Given the description of an element on the screen output the (x, y) to click on. 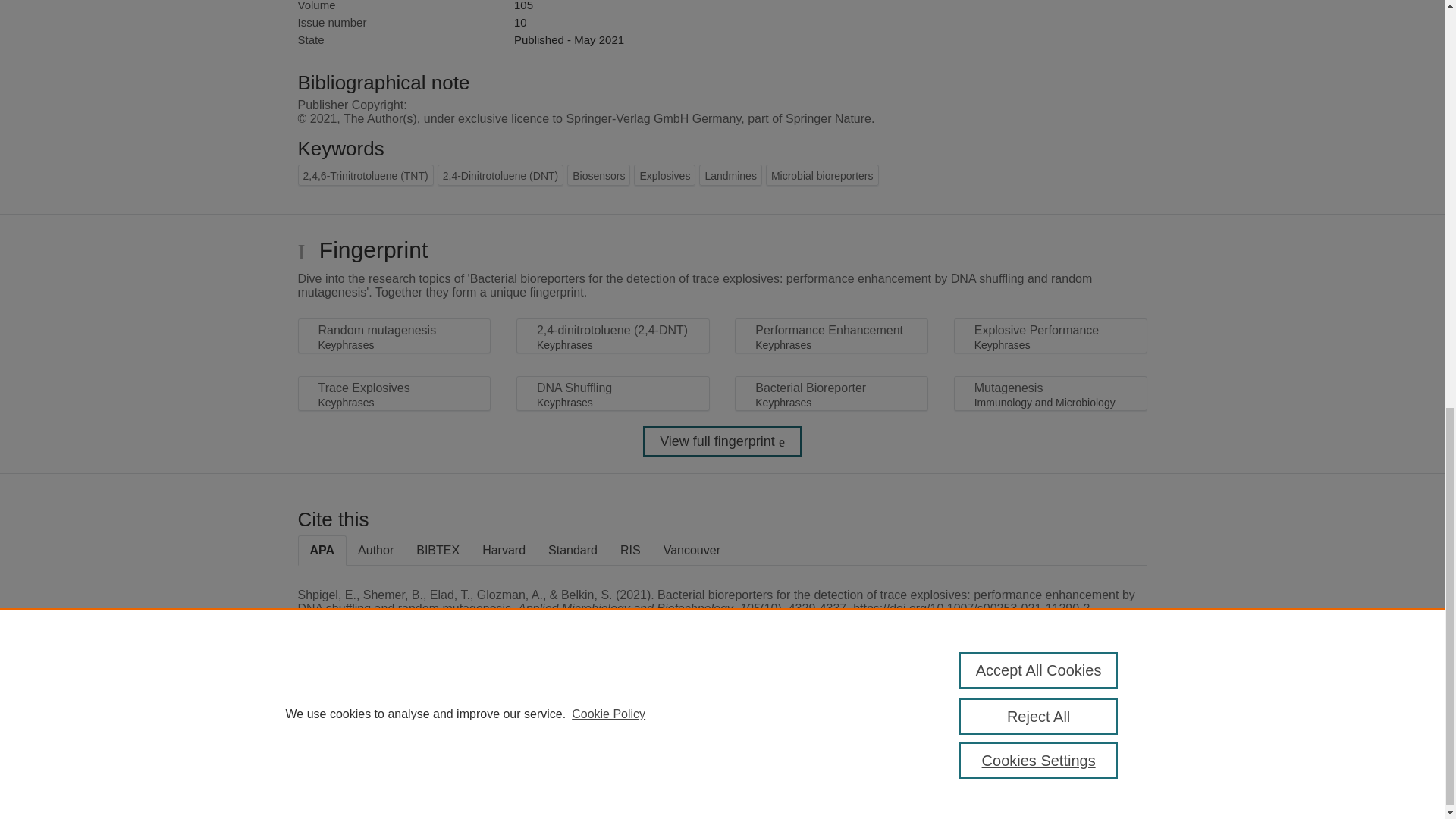
use of cookies (796, 767)
Report vulnerability (1088, 752)
About web accessibility (1088, 720)
Cookies Settings (334, 787)
View full fingerprint (722, 440)
Scopus (394, 714)
Elsevier B.V. (506, 735)
Pure (362, 714)
